Given the description of an element on the screen output the (x, y) to click on. 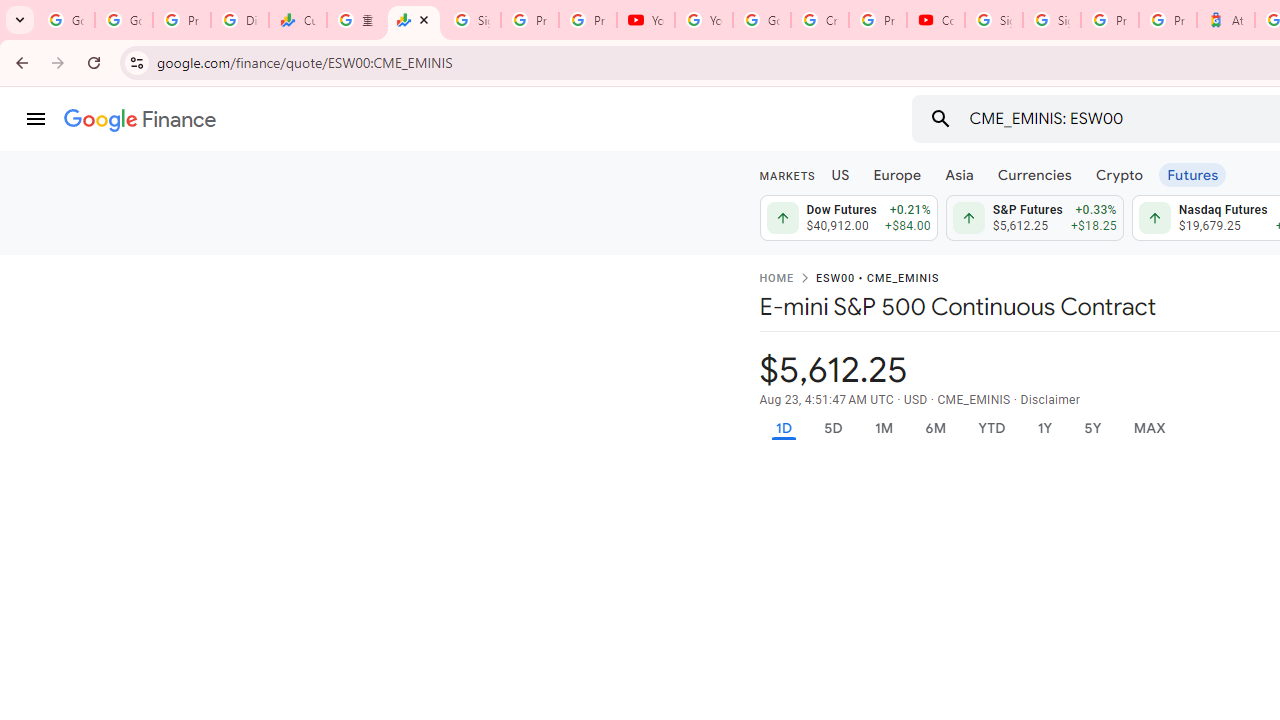
Finance (140, 120)
Futures (1192, 174)
YouTube (645, 20)
6M (934, 427)
Privacy Checkup (587, 20)
Sign in - Google Accounts (1051, 20)
MAX (1149, 427)
Currencies - Google Finance (297, 20)
Dow Futures $40,912.00 Up by 0.21% +$84.00 (848, 218)
